Given the description of an element on the screen output the (x, y) to click on. 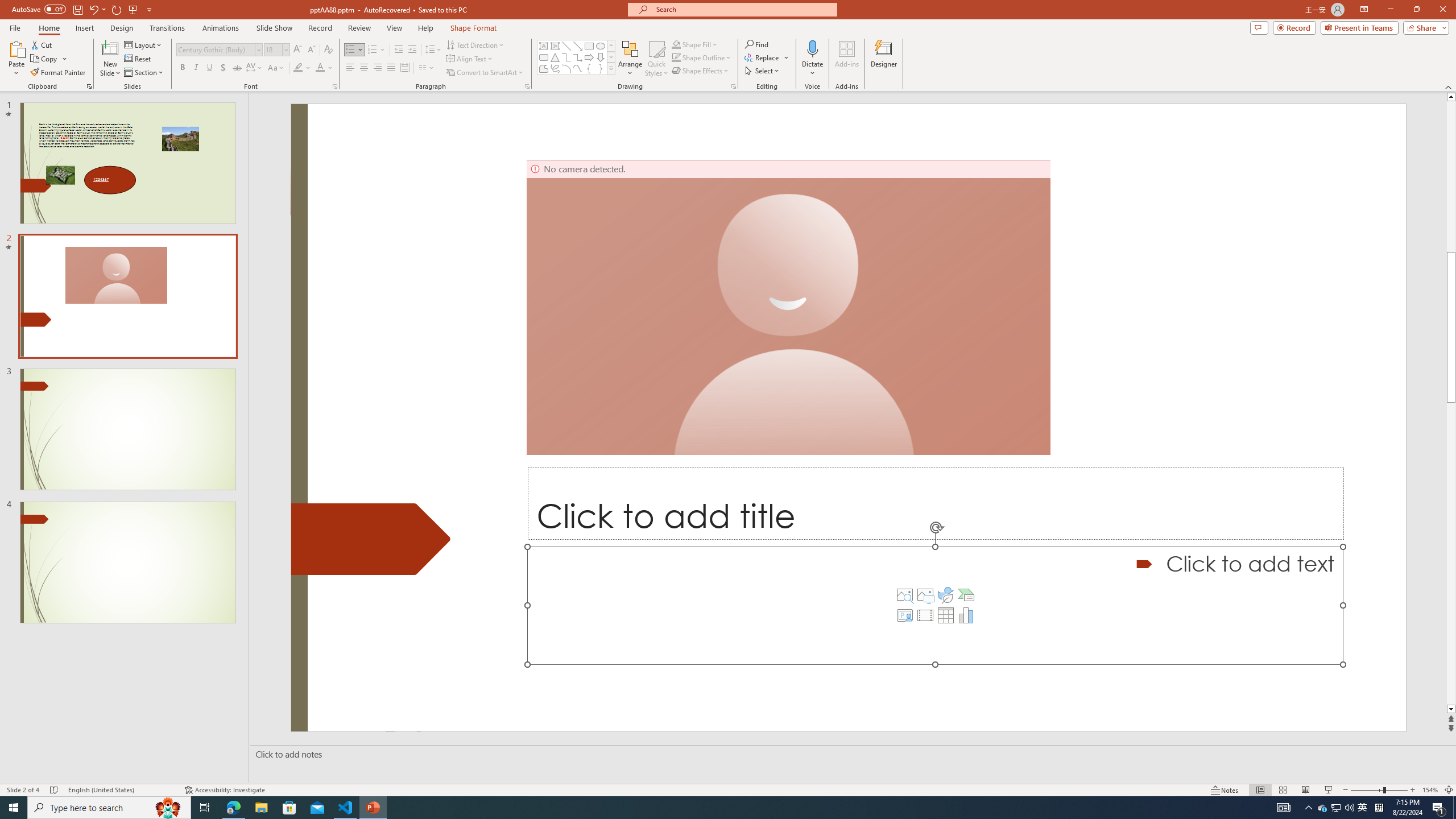
Remove Background (23, 58)
Picture... (1104, 85)
Artistic Effects (124, 58)
Reflected Rounded Rectangle (407, 56)
Reset Picture (214, 72)
